Given the description of an element on the screen output the (x, y) to click on. 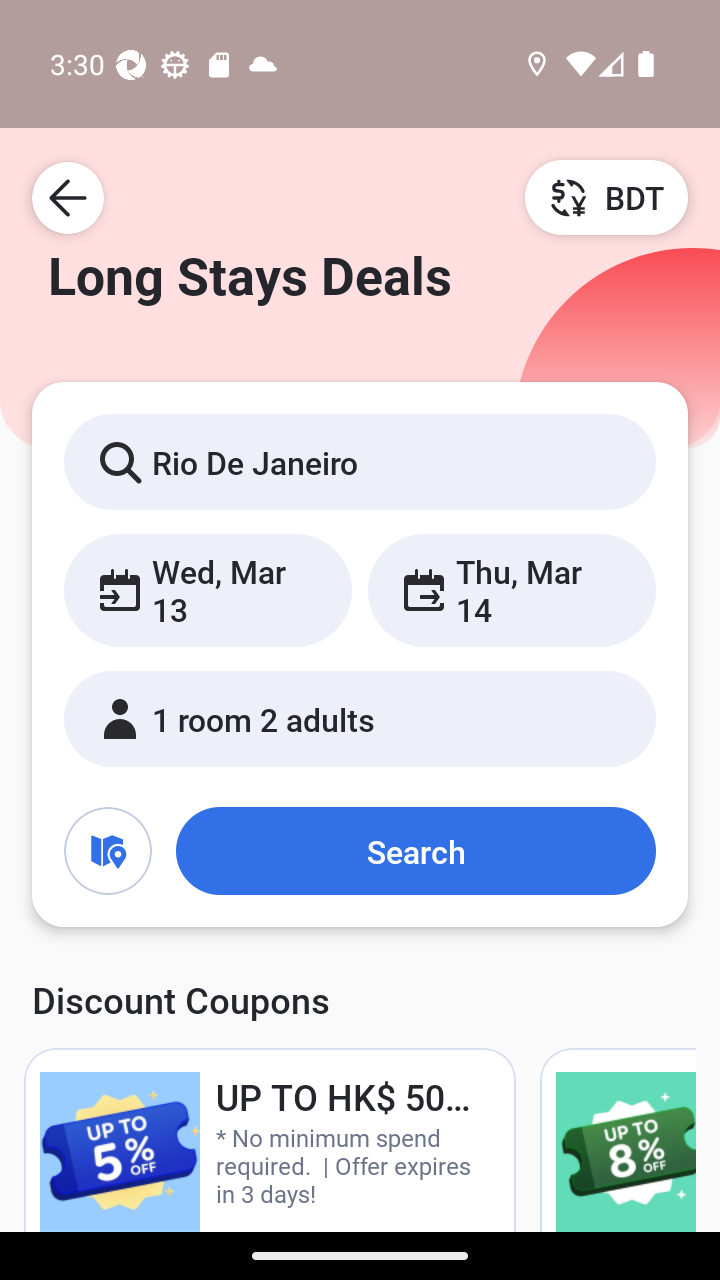
BDT (606, 197)
Rio De Janeiro (359, 461)
Wed, Mar 13 (208, 589)
Thu, Mar 14 (511, 589)
1 room 2 adults (359, 718)
Search (415, 850)
